Given the description of an element on the screen output the (x, y) to click on. 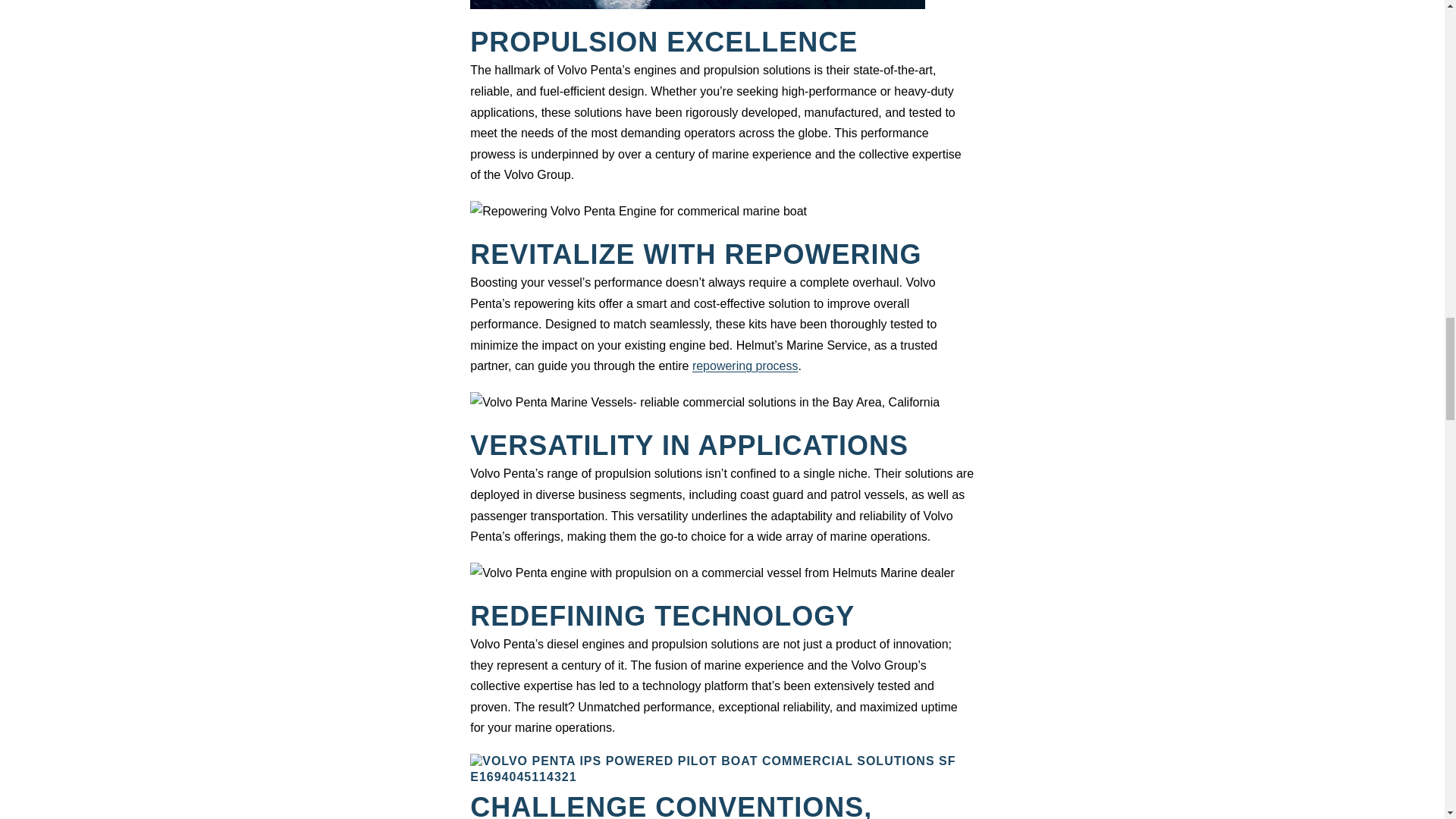
repowering process (745, 365)
